Given the description of an element on the screen output the (x, y) to click on. 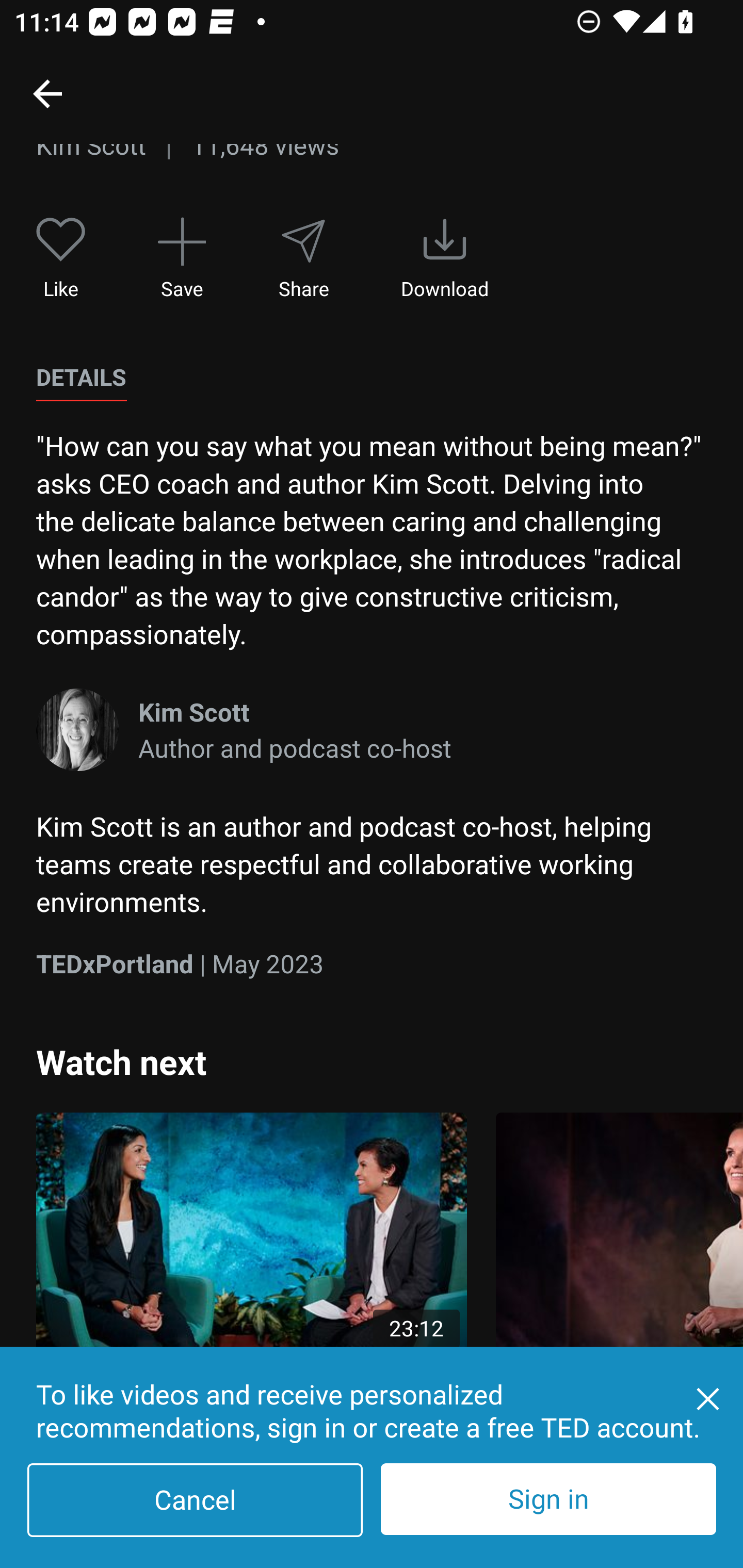
Search, back (47, 92)
Like (60, 258)
Save (181, 258)
Share (302, 258)
Download (444, 258)
DETAILS (80, 377)
23:12 How great leaders take on uncertainty (251, 1275)
Great leadership is a network, not a hierarchy (619, 1275)
Cancel (194, 1499)
Sign in (548, 1498)
